Given the description of an element on the screen output the (x, y) to click on. 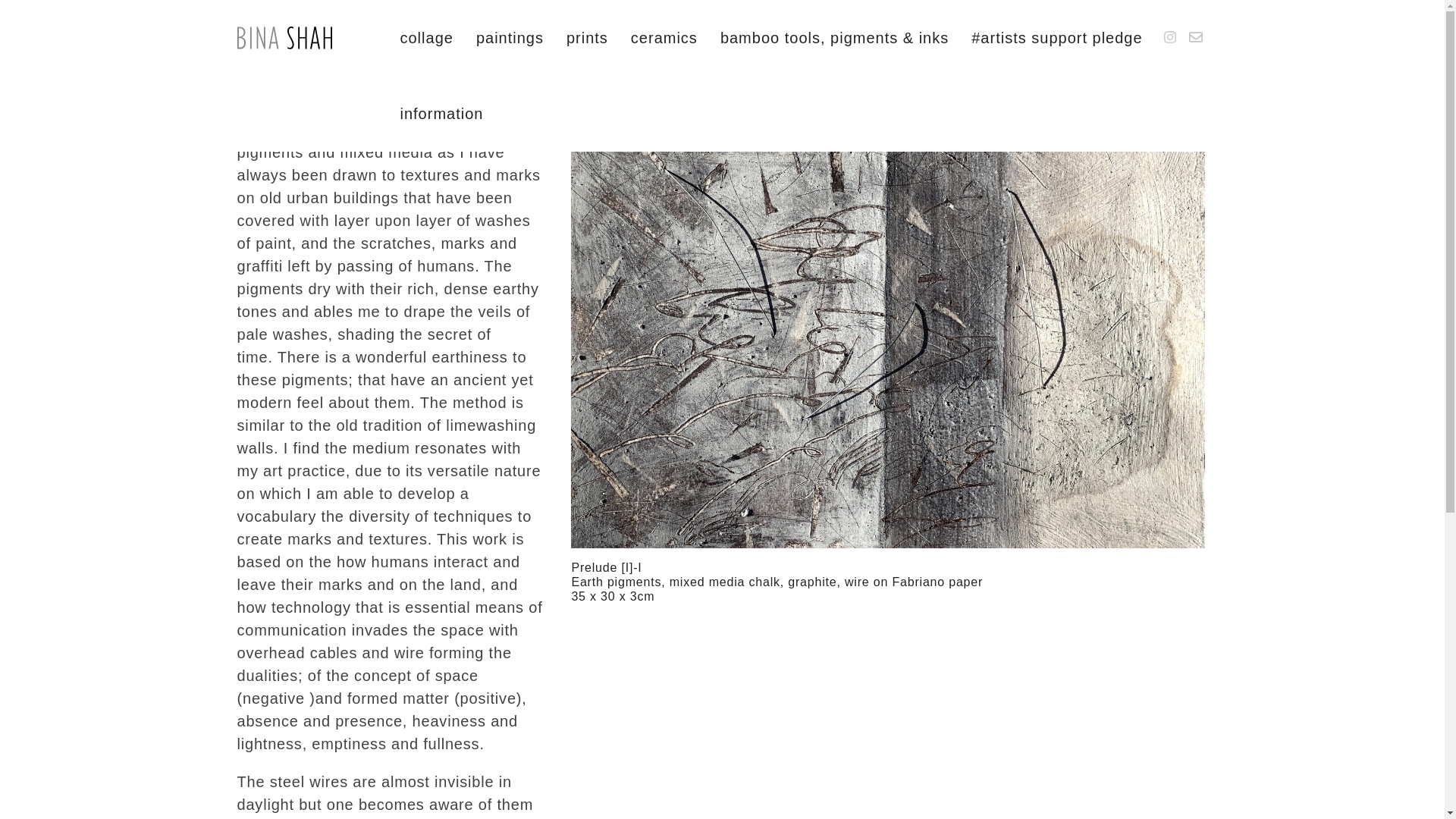
ceramics (664, 38)
information (441, 113)
collage (426, 38)
paintings (509, 38)
